Given the description of an element on the screen output the (x, y) to click on. 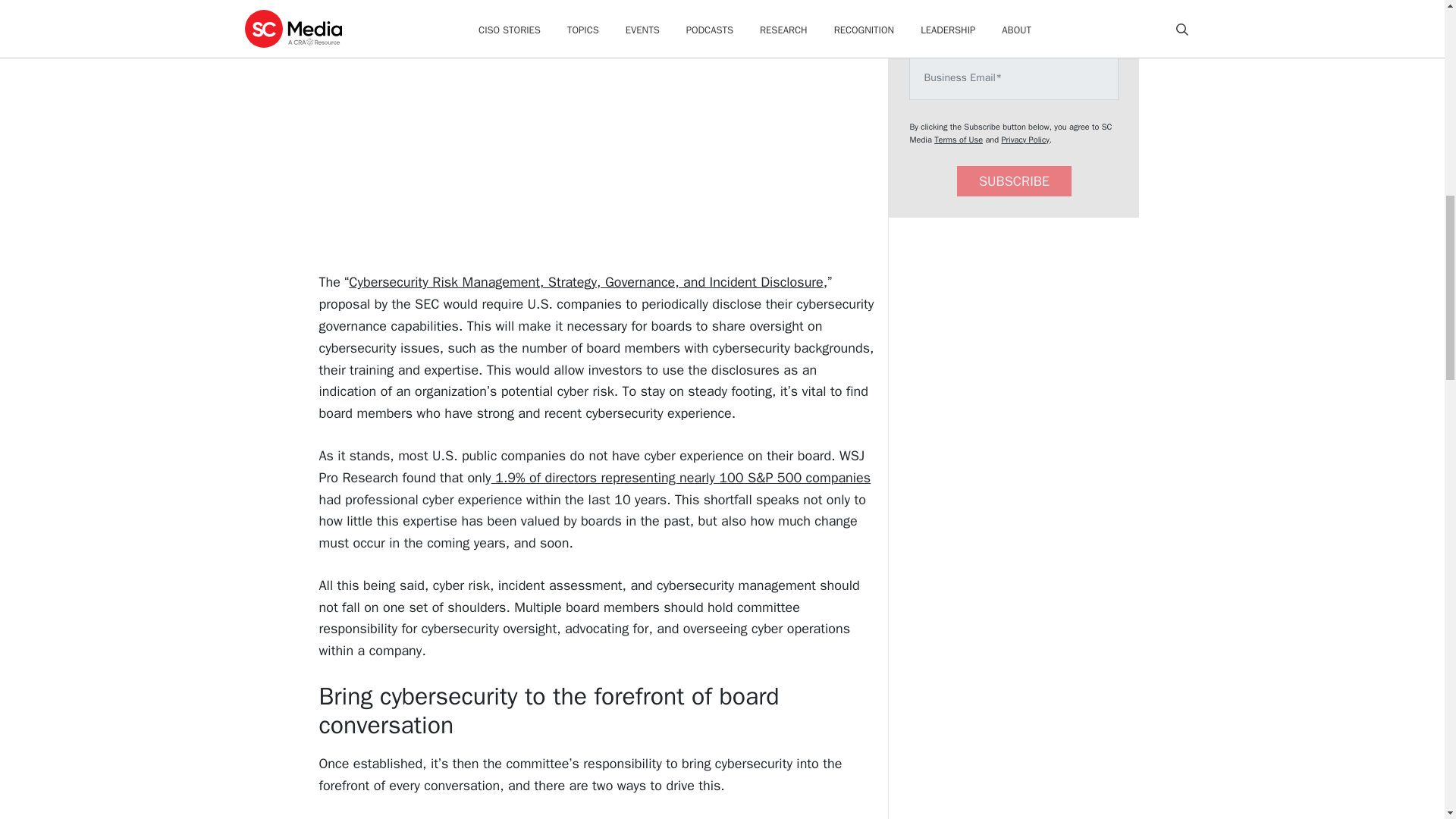
SUBSCRIBE (1013, 181)
Terms of Use (958, 139)
Privacy Policy (1024, 139)
SEC proposal (510, 2)
